Given the description of an element on the screen output the (x, y) to click on. 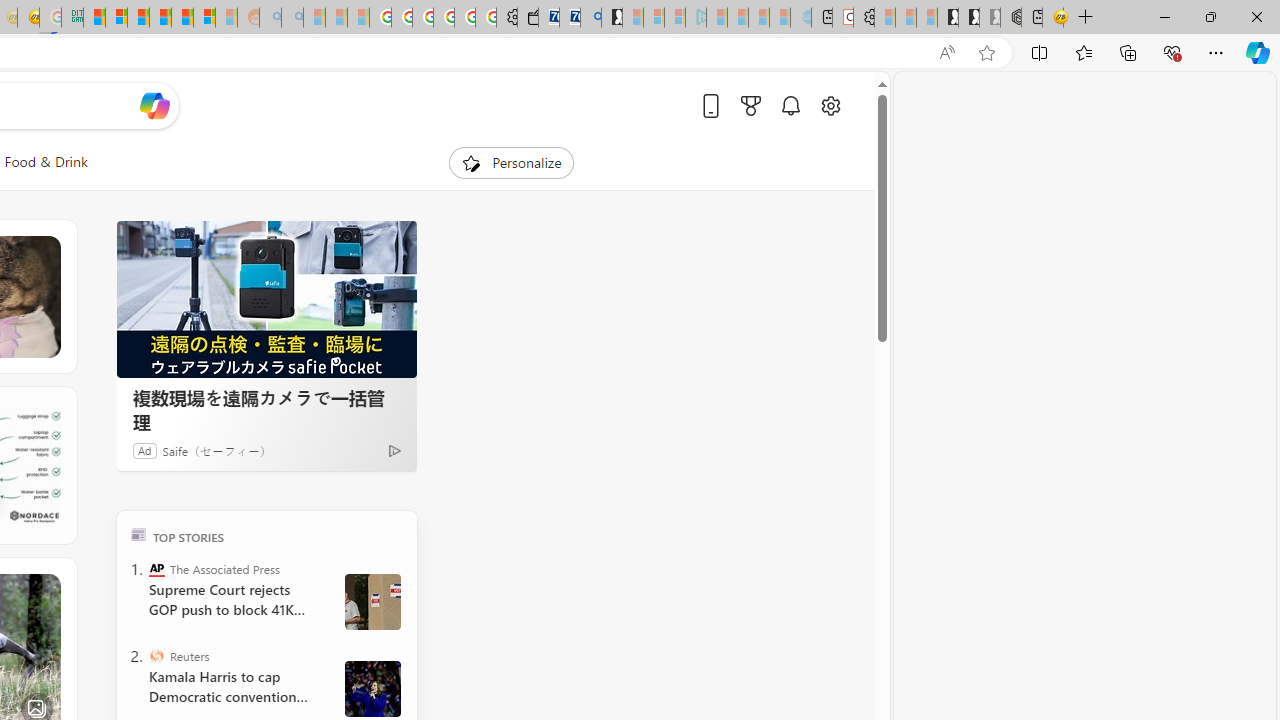
 Harris and Walz campaign in Wisconsin (372, 688)
Food & Drink (45, 162)
Wallet (527, 17)
